Given the description of an element on the screen output the (x, y) to click on. 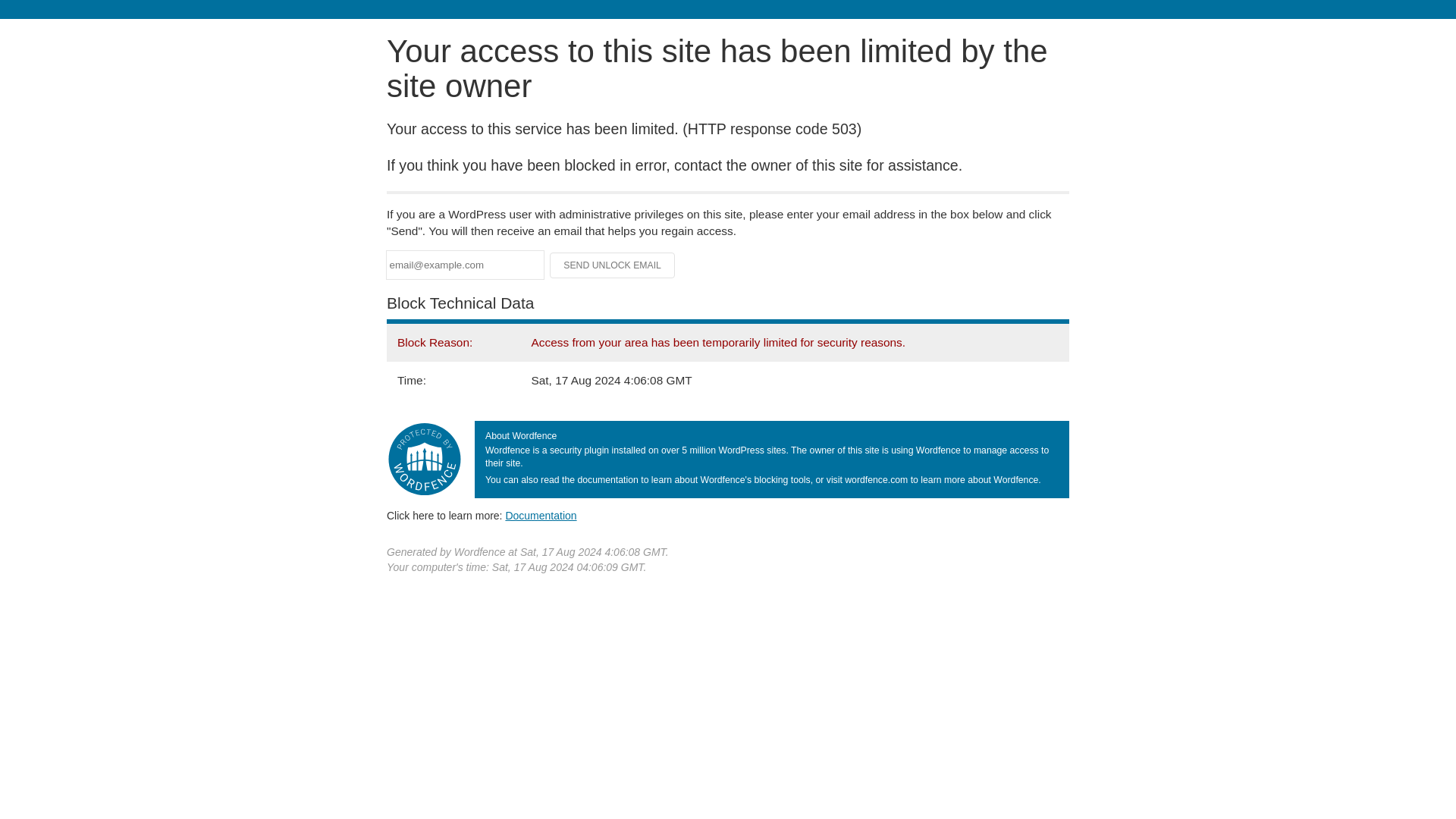
Send Unlock Email (612, 265)
Send Unlock Email (612, 265)
Documentation (540, 515)
